Given the description of an element on the screen output the (x, y) to click on. 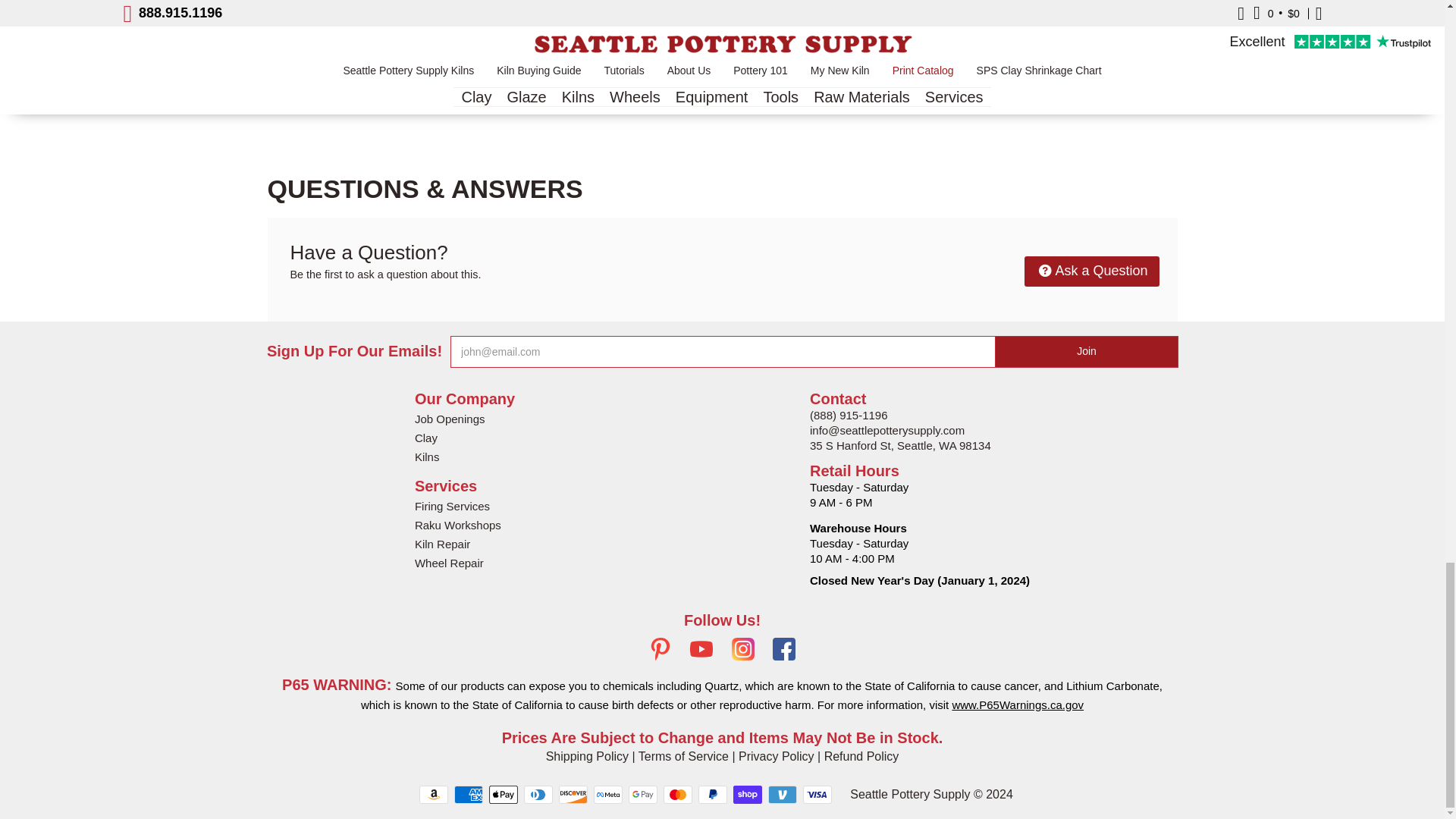
Amazon (433, 794)
Venmo (782, 794)
Google Pay (643, 794)
Mastercard (678, 794)
Diners Club (538, 794)
PayPal (712, 794)
Discover (573, 794)
Meta Pay (608, 794)
Shop Pay (747, 794)
American Express (468, 794)
Join (1086, 351)
Visa (817, 794)
Apple Pay (503, 794)
